Given the description of an element on the screen output the (x, y) to click on. 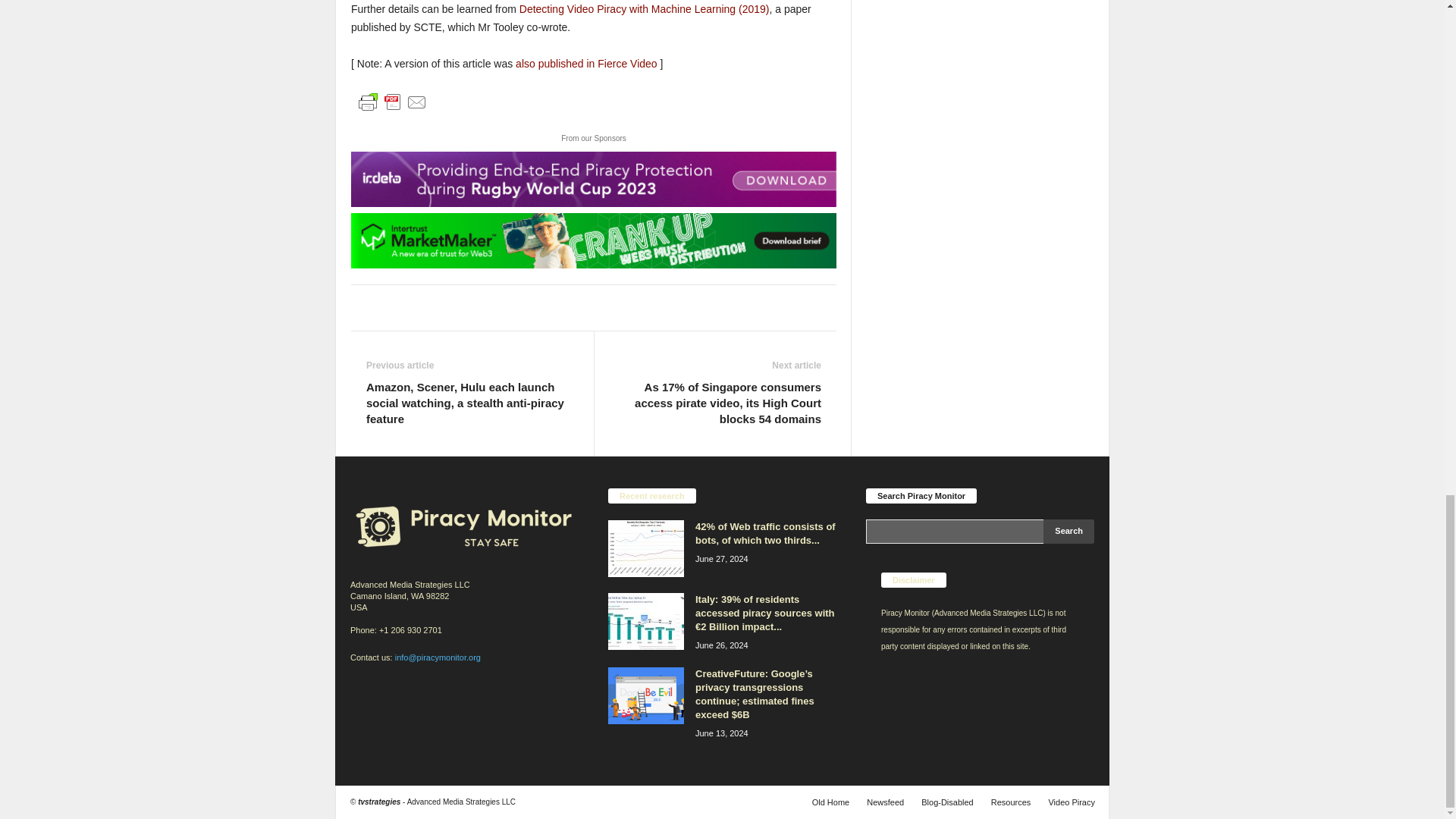
Search (1068, 531)
